Given the description of an element on the screen output the (x, y) to click on. 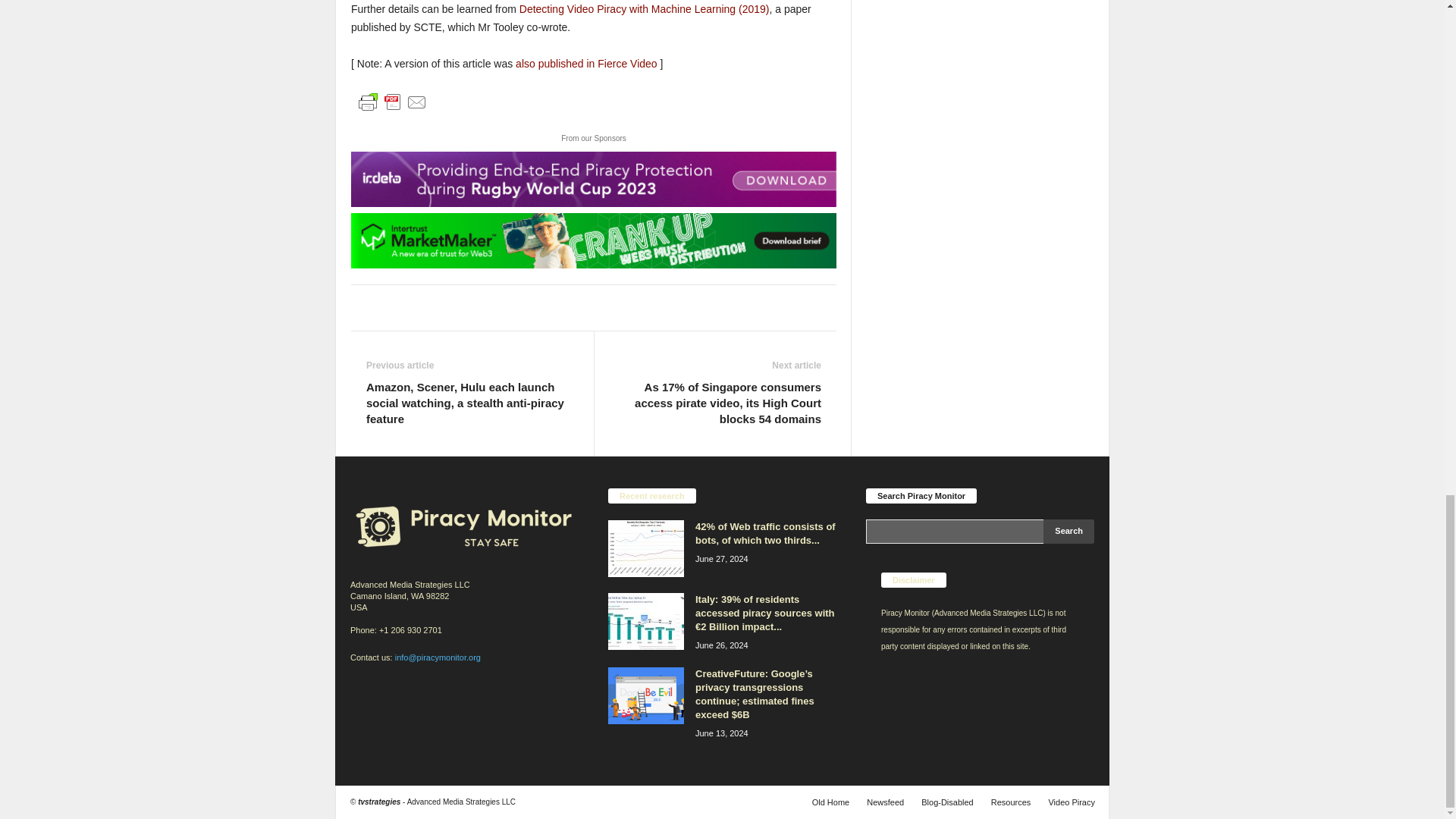
Search (1068, 531)
